Given the description of an element on the screen output the (x, y) to click on. 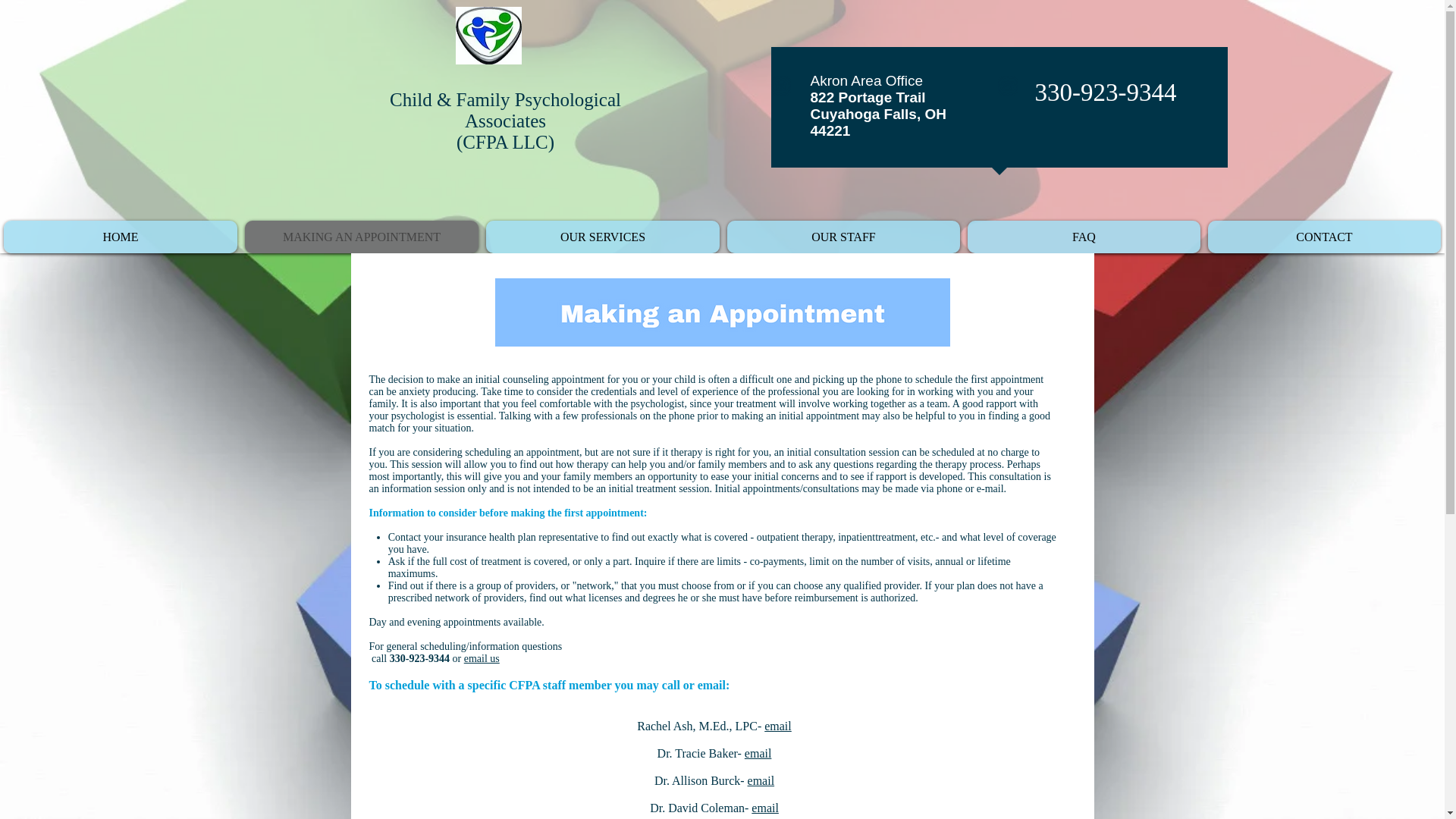
email us (481, 658)
email (778, 725)
OUR STAFF (842, 236)
HOME (120, 236)
email (757, 753)
MAKING AN APPOINTMENT (361, 236)
email (764, 807)
CONTACT (1324, 236)
email (761, 780)
OUR SERVICES (602, 236)
